Given the description of an element on the screen output the (x, y) to click on. 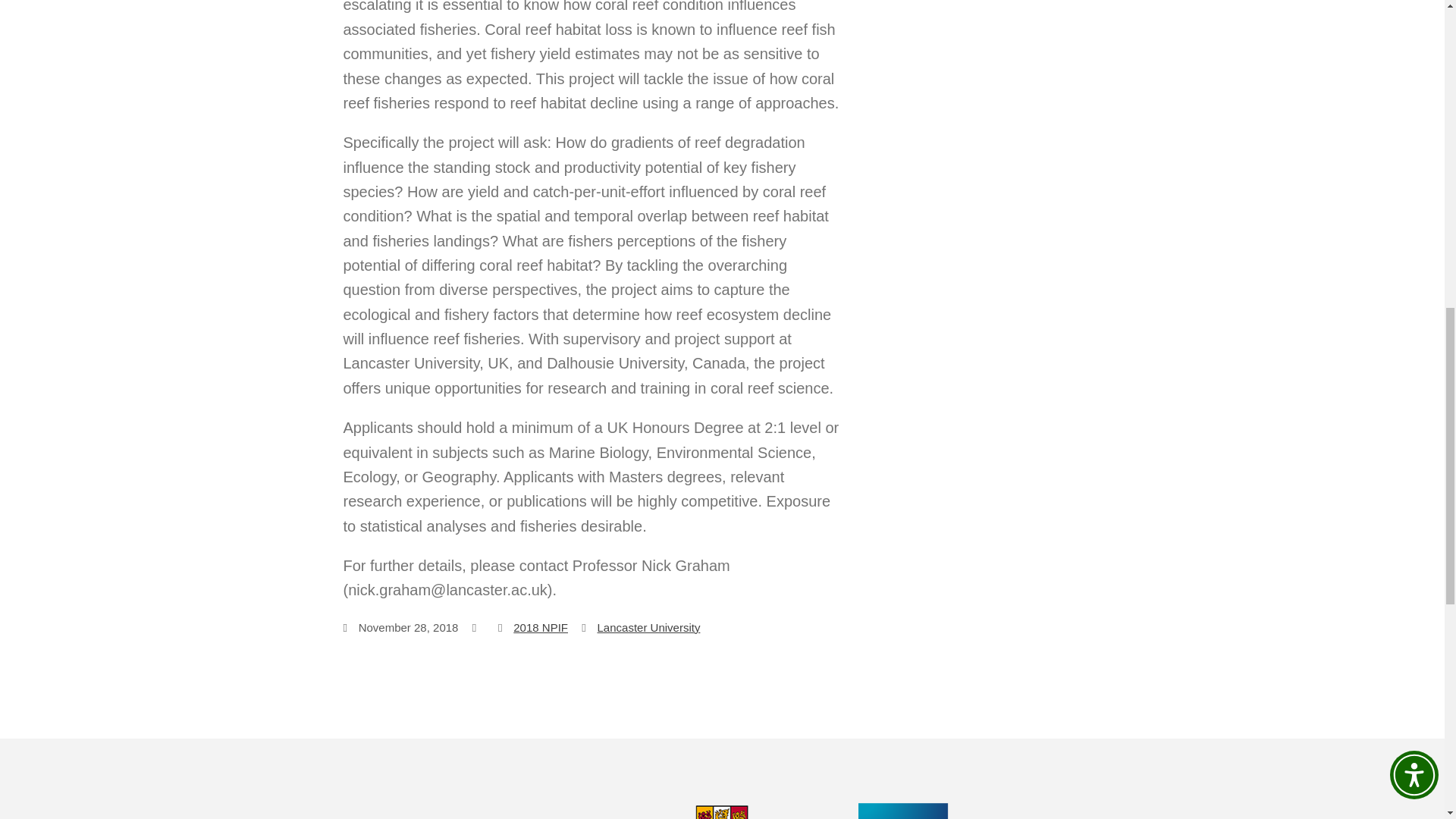
View all posts tagged Lancaster University (648, 626)
View all posts in 2018 NPIF (540, 626)
